Given the description of an element on the screen output the (x, y) to click on. 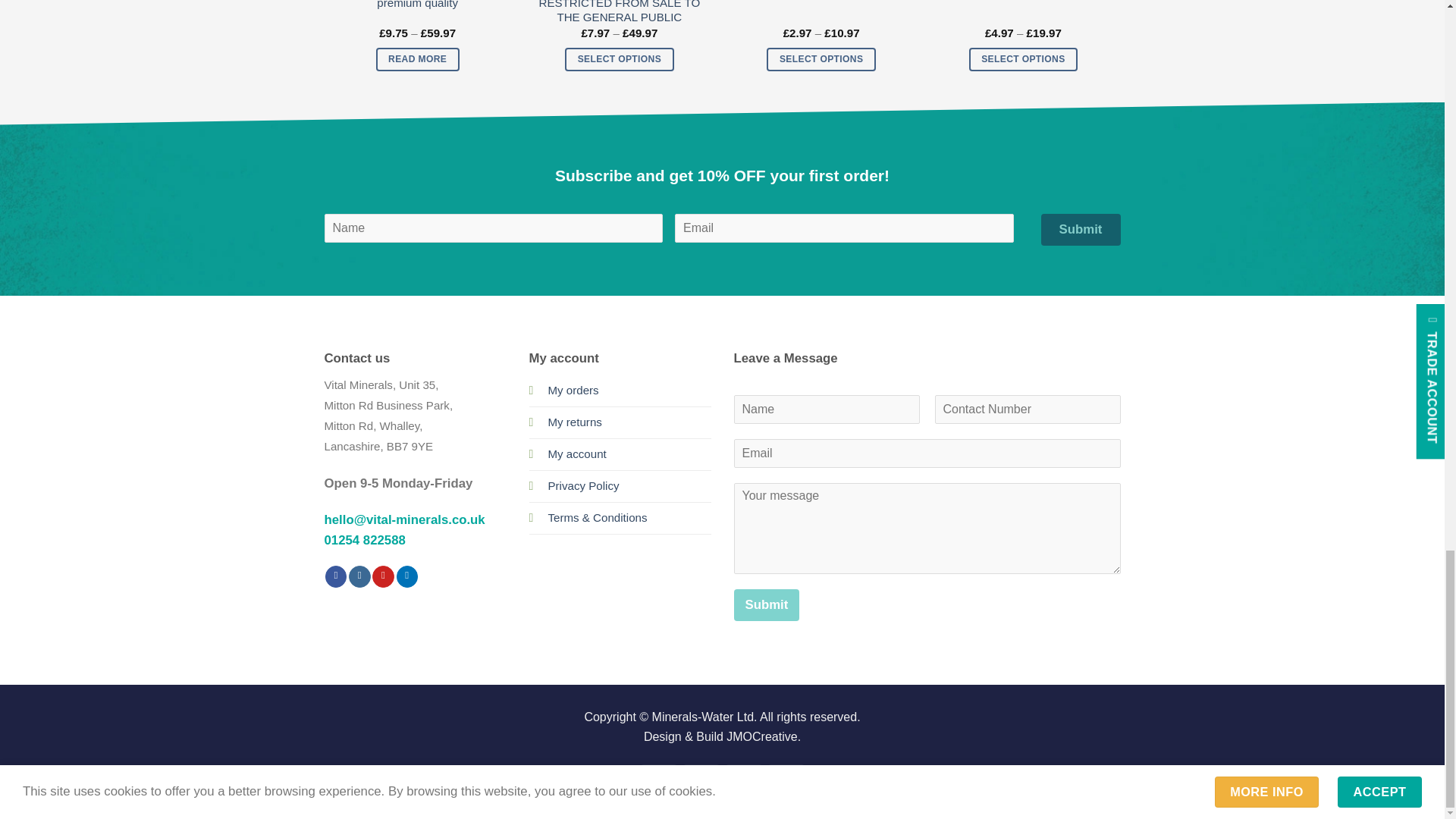
Follow on Instagram (360, 576)
Submit (389, 97)
Follow on Facebook (335, 576)
